Given the description of an element on the screen output the (x, y) to click on. 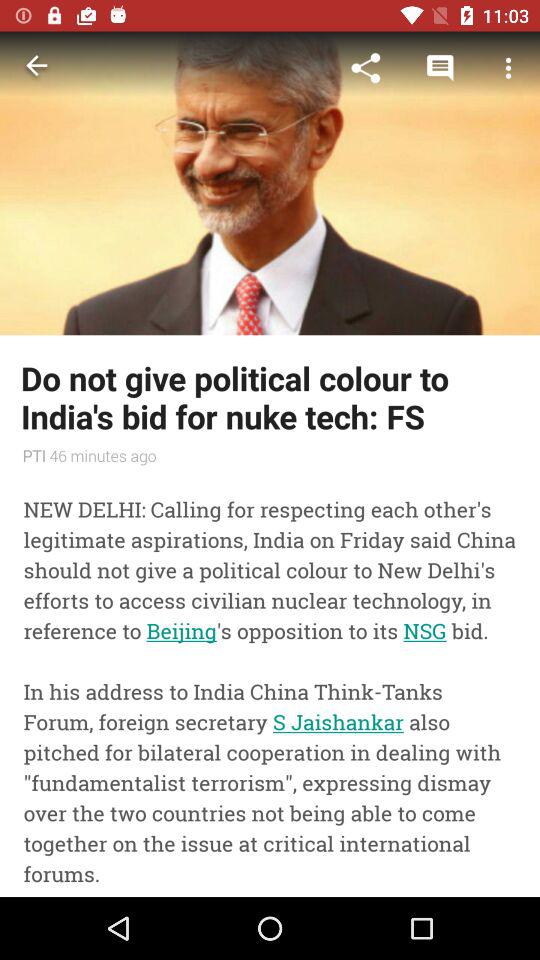
expand image (270, 183)
